Given the description of an element on the screen output the (x, y) to click on. 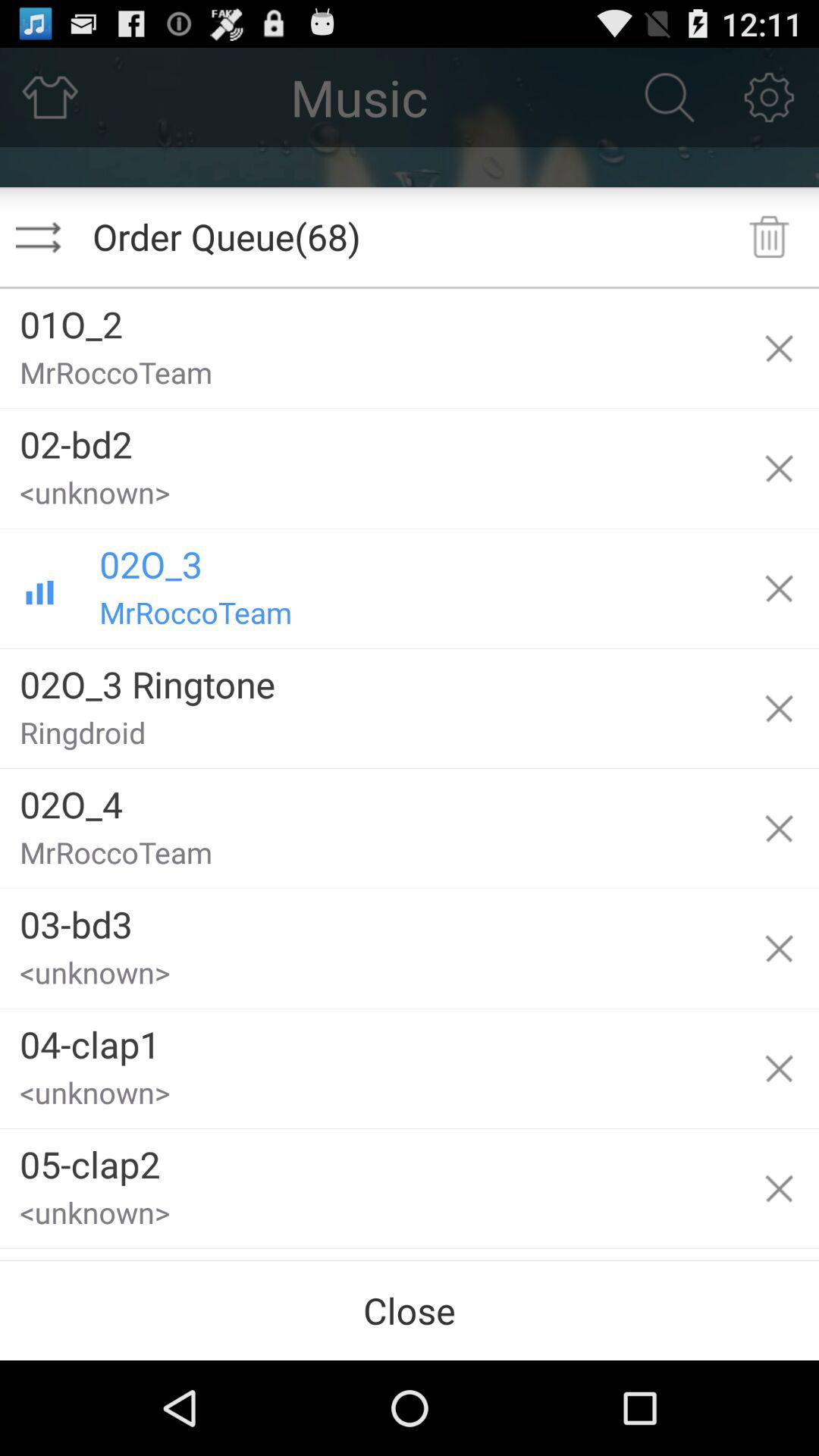
turn on close (409, 1310)
